Given the description of an element on the screen output the (x, y) to click on. 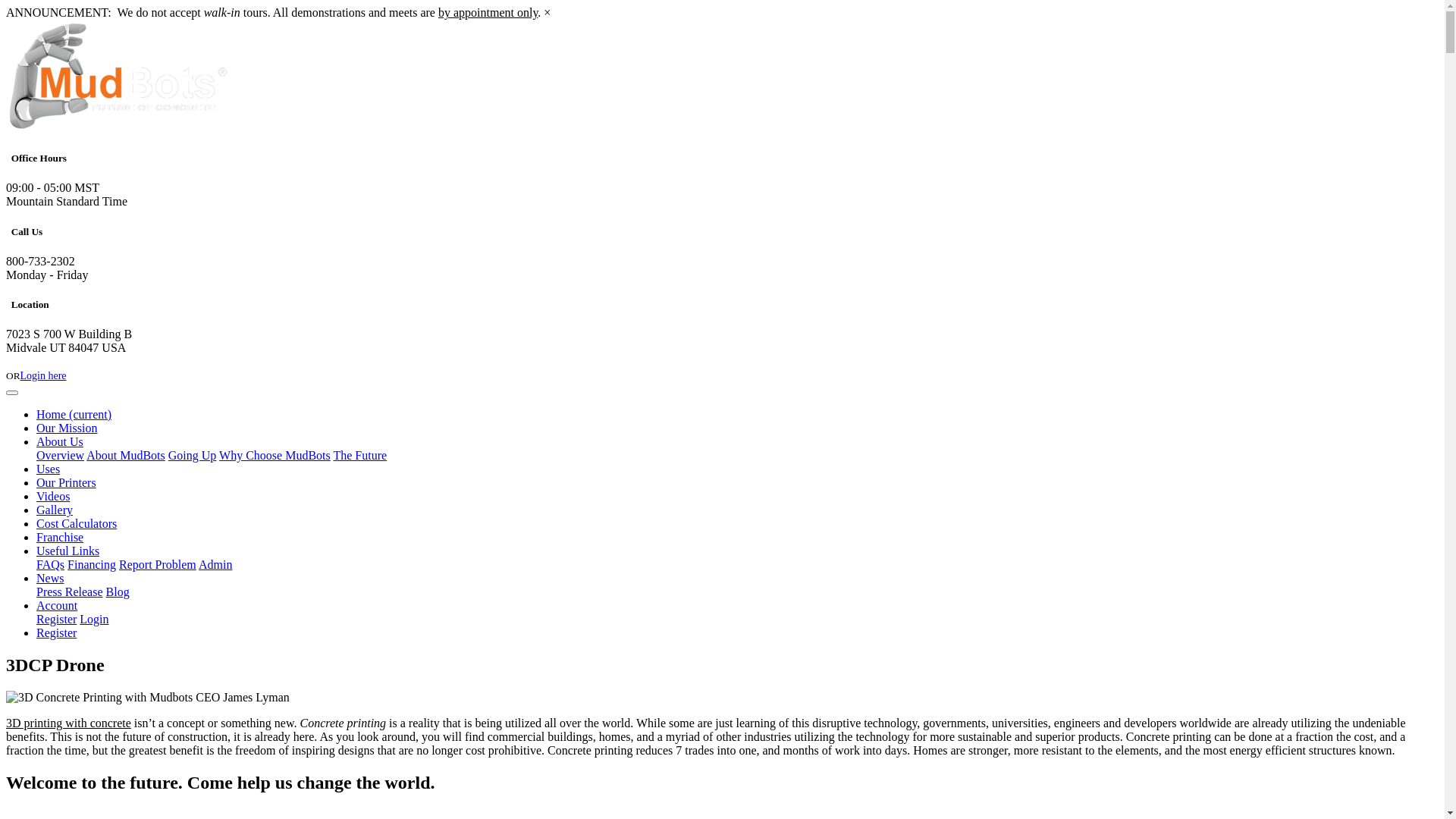
Financing Element type: text (91, 564)
FAQs Element type: text (50, 564)
Our Printers Element type: text (66, 482)
Cost Calculators Element type: text (76, 523)
Videos Element type: text (52, 495)
Register Element type: text (56, 632)
About Us Element type: text (59, 441)
Franchise Element type: text (59, 536)
Login Element type: text (93, 618)
Useful Links Element type: text (67, 550)
Blog Element type: text (117, 591)
Our Mission Element type: text (66, 427)
Home (current) Element type: text (73, 413)
Account Element type: text (56, 605)
The Future Element type: text (359, 454)
News Element type: text (49, 577)
Press Release Element type: text (69, 591)
Admin Element type: text (215, 564)
Report Problem Element type: text (157, 564)
Why Choose MudBots Element type: text (274, 454)
About MudBots Element type: text (125, 454)
Uses Element type: text (47, 468)
Going Up Element type: text (192, 454)
Register Element type: text (56, 618)
Login here Element type: text (43, 375)
Register Now Element type: text (35, 361)
Gallery Element type: text (54, 509)
Overview Element type: text (60, 454)
